Given the description of an element on the screen output the (x, y) to click on. 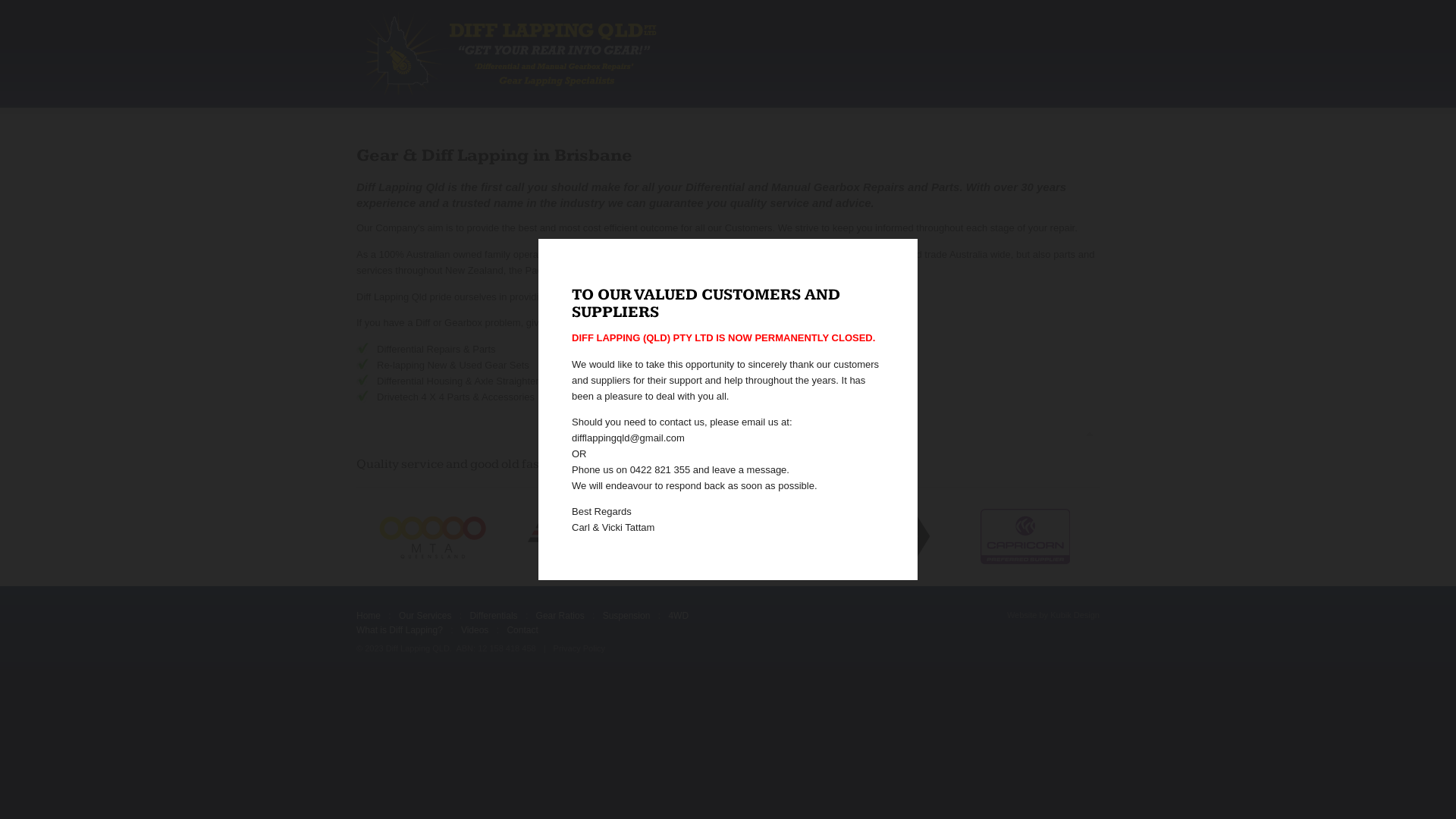
Our Services Element type: text (424, 615)
Home Element type: text (368, 615)
Contact Element type: text (521, 630)
4WD Element type: text (678, 615)
Website by Kubik Design Element type: text (1053, 615)
What is Diff Lapping? Element type: text (399, 630)
Gear Ratios Element type: text (560, 615)
Suspension Element type: text (626, 615)
Privacy Policy Element type: text (579, 648)
Differentials Element type: text (493, 615)
Videos Element type: text (474, 630)
